Given the description of an element on the screen output the (x, y) to click on. 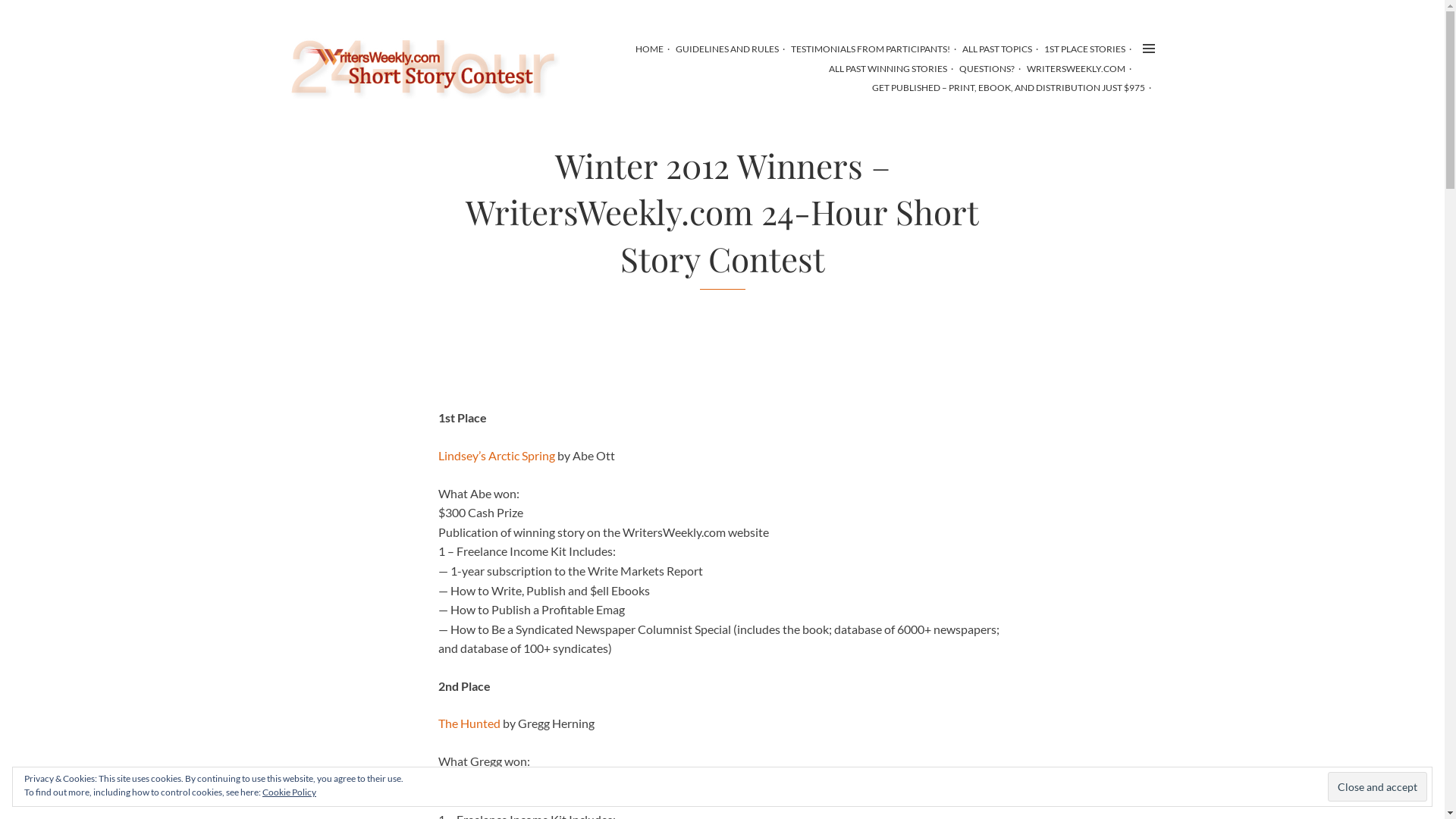
GUIDELINES AND RULES Element type: text (726, 48)
Cookie Policy Element type: text (289, 791)
Close and accept Element type: text (1377, 786)
WRITERSWEEKLY.COM Element type: text (1075, 68)
QUESTIONS? Element type: text (985, 68)
TESTIMONIALS FROM PARTICIPANTS! Element type: text (869, 48)
1ST PLACE STORIES Element type: text (1083, 48)
The Hunted Element type: text (469, 722)
ALL PAST WINNING STORIES Element type: text (887, 68)
ALL PAST TOPICS Element type: text (996, 48)
HOME Element type: text (649, 48)
